Given the description of an element on the screen output the (x, y) to click on. 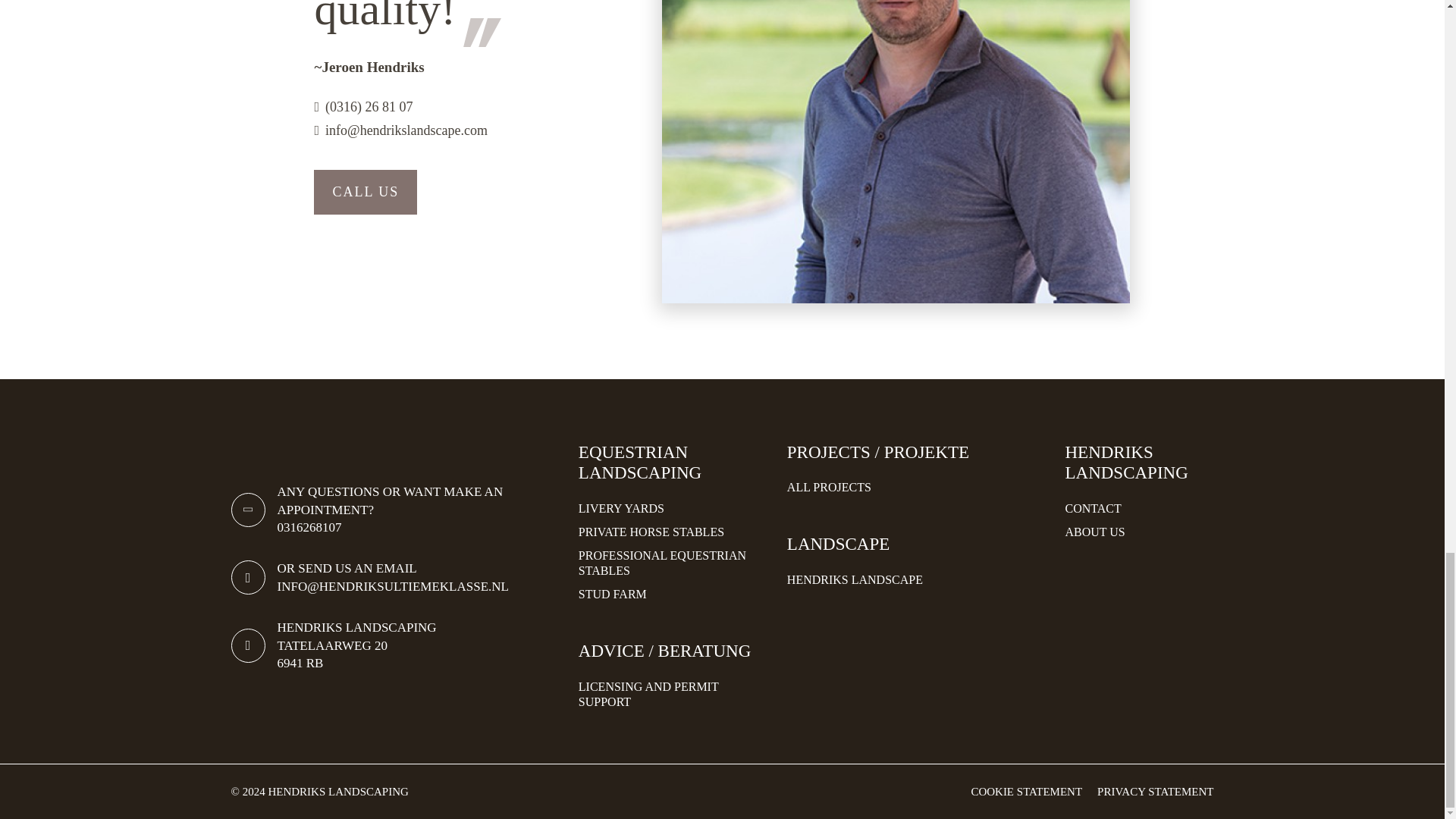
LIVERY YARDS (673, 508)
LICENSING AND PERMIT SUPPORT (673, 695)
CALL US (365, 191)
PRIVATE HORSE STABLES (673, 532)
CONTACT (1138, 508)
PROFESSIONAL EQUESTRIAN STABLES (394, 645)
ALL PROJECTS (673, 563)
HENDRIKS LANDSCAPE (916, 487)
